Given the description of an element on the screen output the (x, y) to click on. 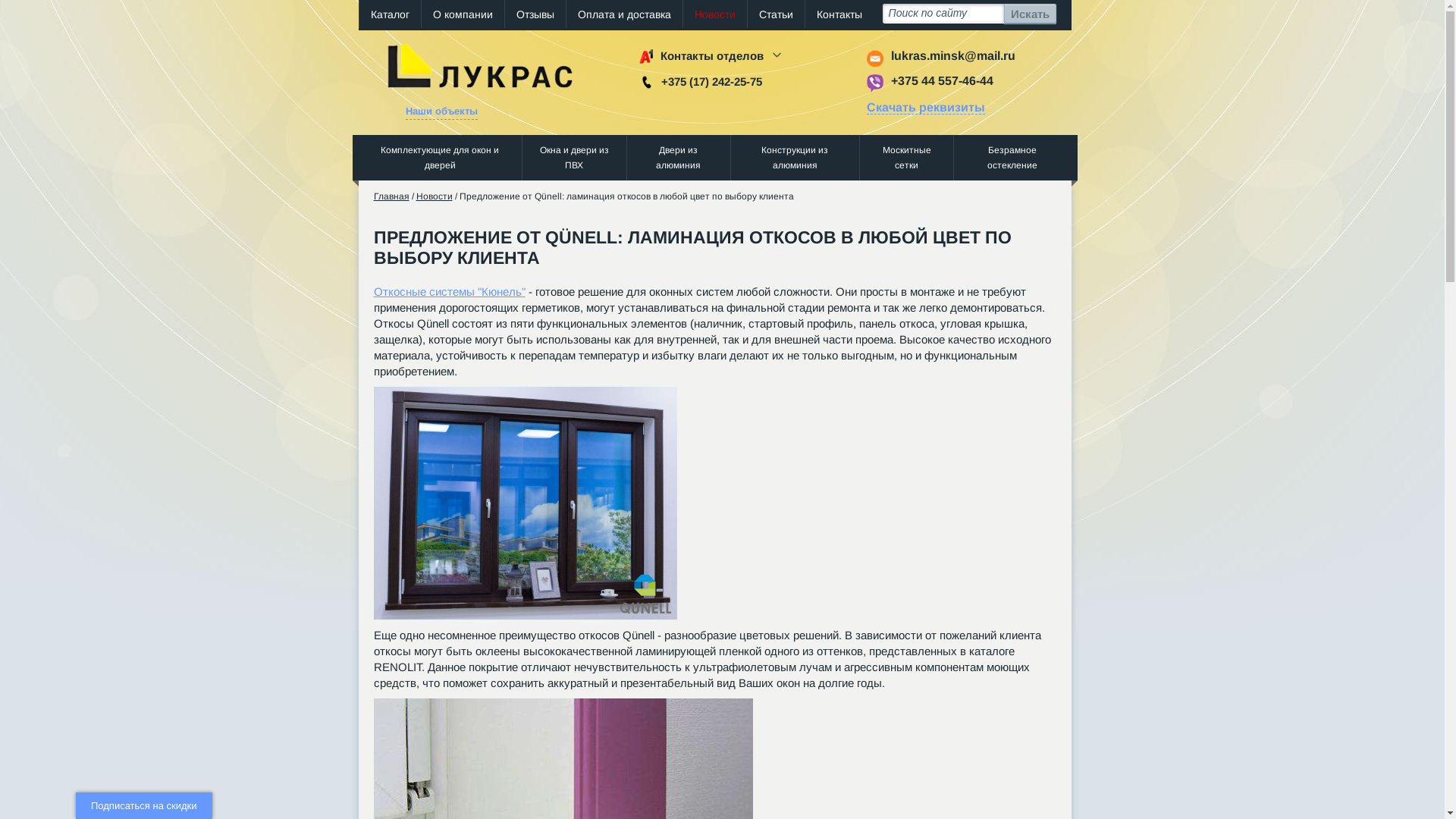
+375 44 557-46-44 Element type: text (941, 80)
lukras.minsk@mail.ru Element type: text (952, 55)
